Given the description of an element on the screen output the (x, y) to click on. 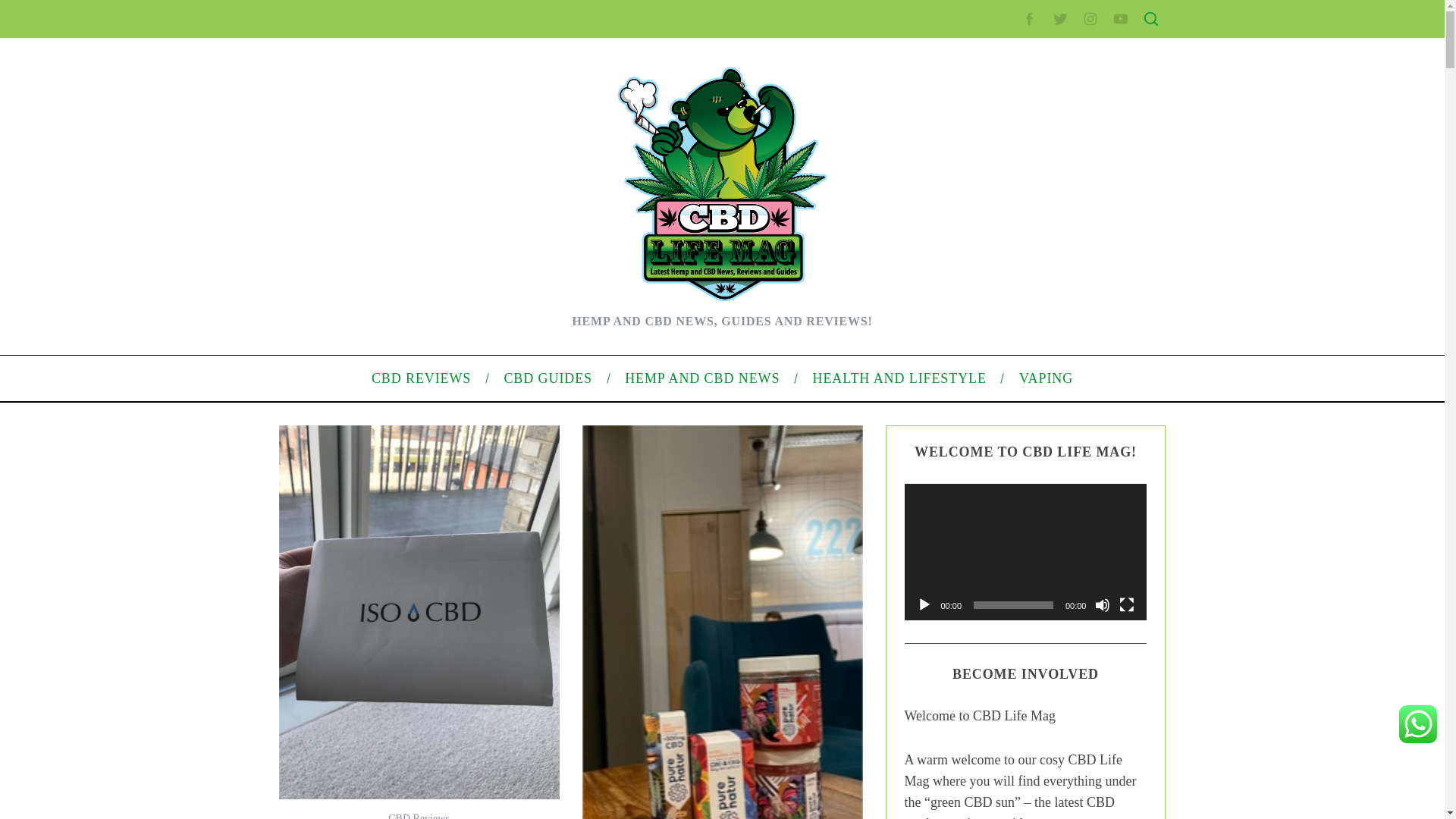
Terms of Use (996, 330)
DMCA Policy (996, 282)
December 2020 (1004, 432)
The Dark Yorkshire Series: Books 4 To 6 (416, 250)
Search for: (1049, 47)
Latest Article (996, 172)
About The Author (362, 370)
Search (1050, 85)
Search (1050, 85)
ADMINISTRATOR (417, 81)
Blog (976, 510)
Log in (980, 588)
Joy Online (346, 467)
Books (336, 418)
